Given the description of an element on the screen output the (x, y) to click on. 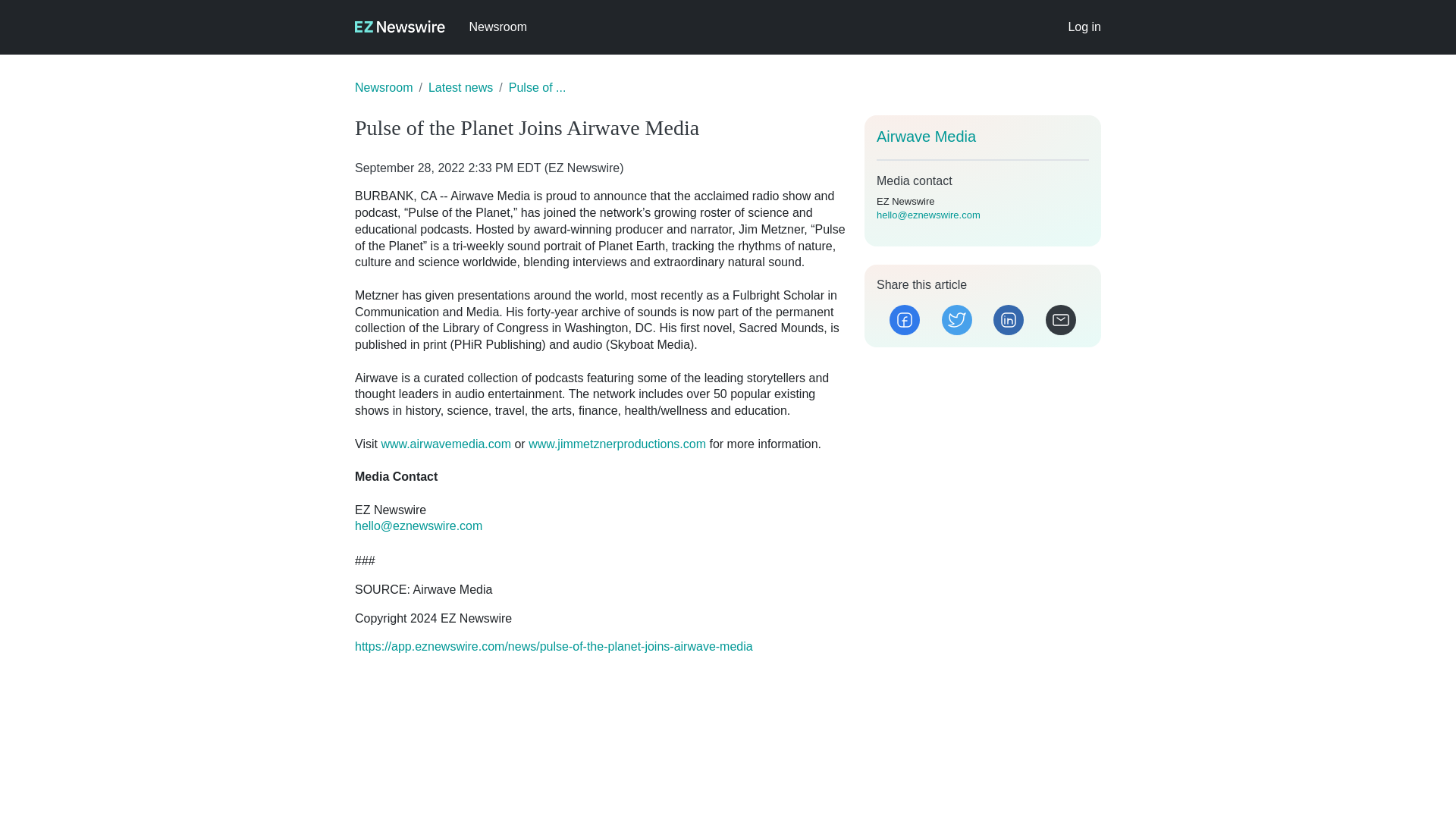
Airwave Media (925, 135)
www.airwavemedia.com (445, 443)
www.jimmetznerproductions.com (617, 443)
Newsroom (383, 87)
Latest news (460, 87)
Log in (1083, 27)
Newsroom (496, 27)
